Given the description of an element on the screen output the (x, y) to click on. 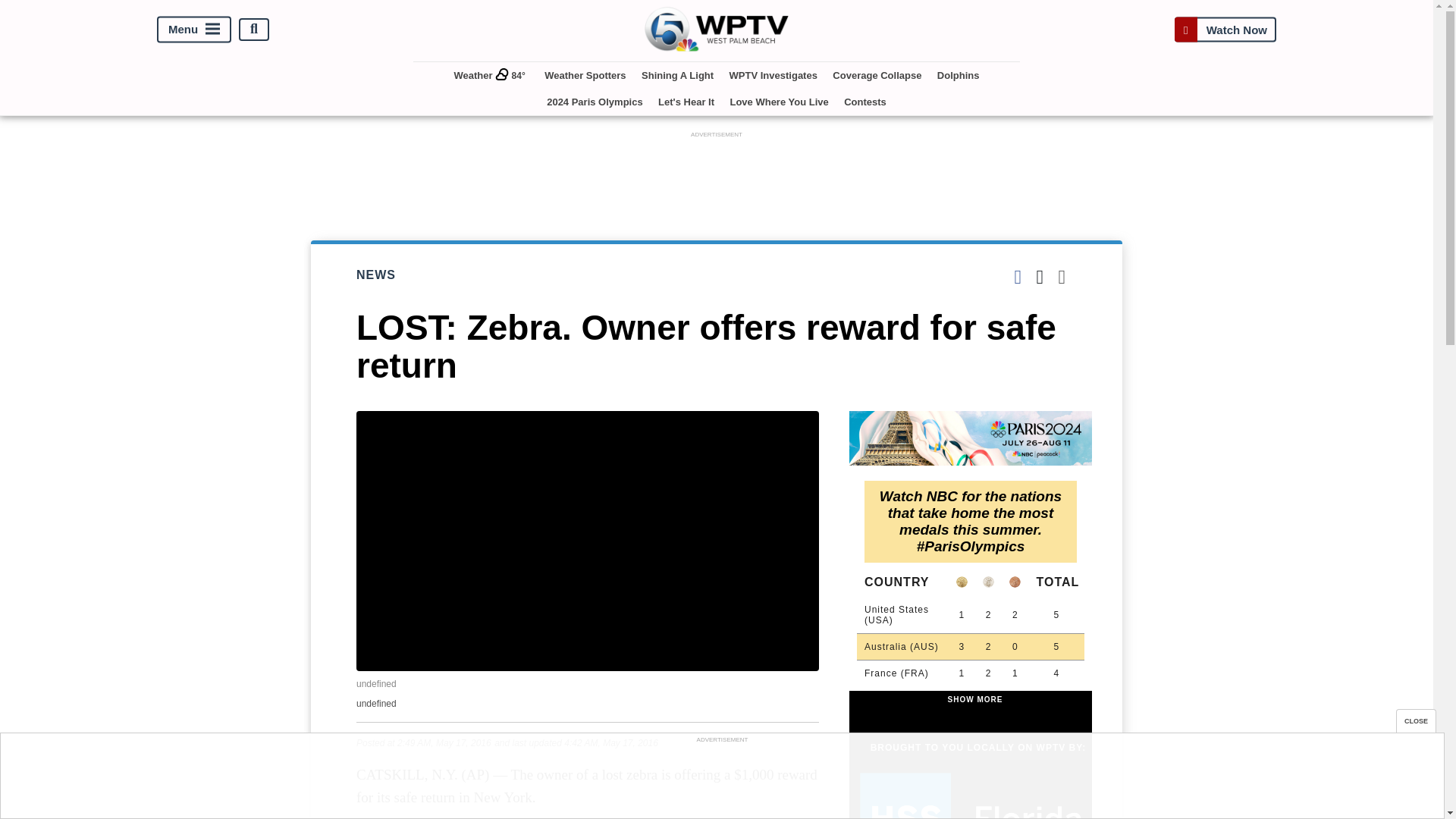
3rd party ad content (721, 780)
3rd party ad content (716, 175)
Watch Now (1224, 29)
Menu (194, 28)
